Given the description of an element on the screen output the (x, y) to click on. 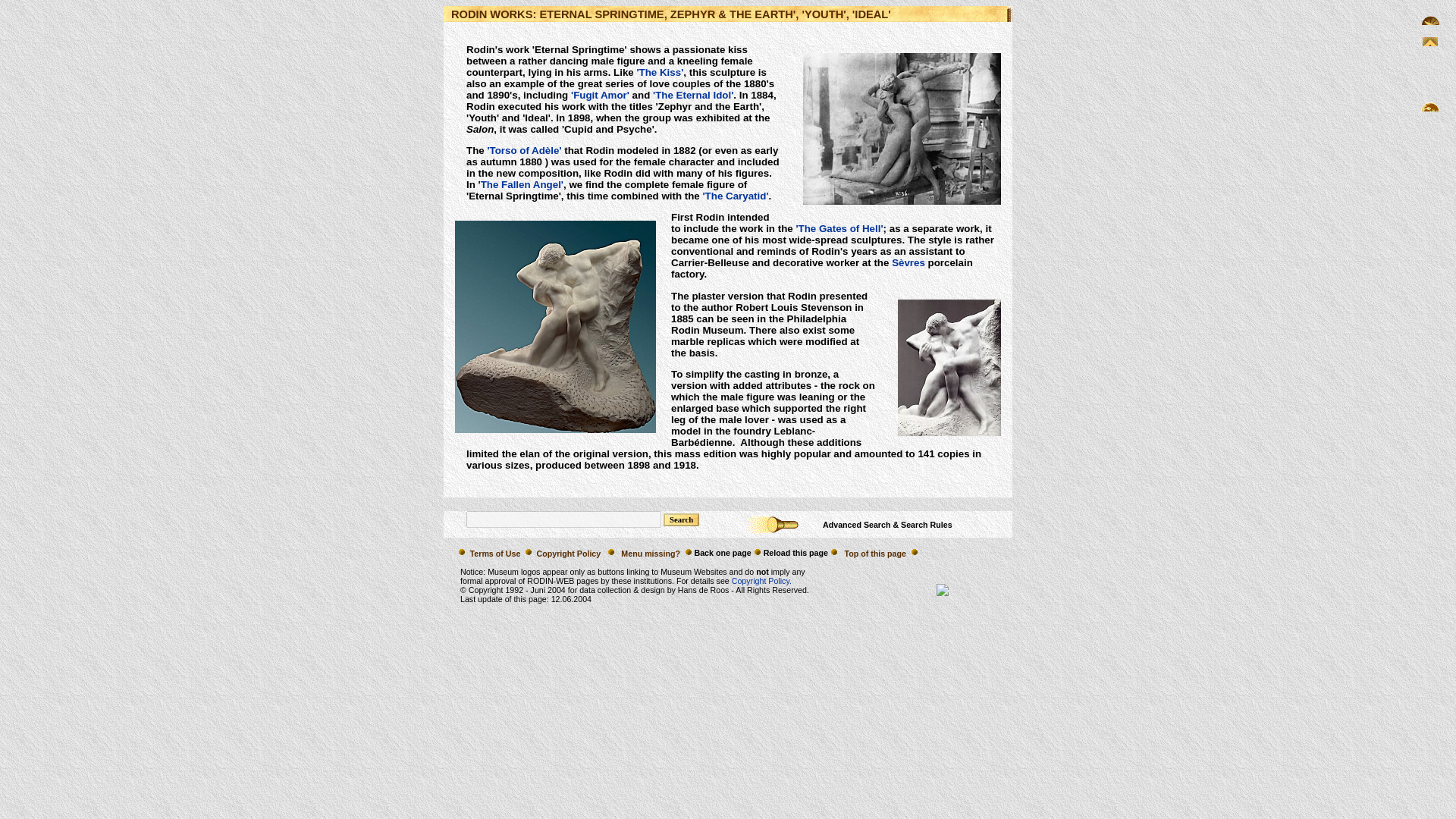
Terms of Use (493, 553)
Search (680, 519)
Copyright Policy. (762, 580)
Reload this page (795, 552)
'The Eternal Idol' (692, 94)
'The Gates of Hell' (838, 228)
Search (680, 519)
'The Kiss' (658, 71)
Copyright Policy (568, 553)
Menu missing? (651, 553)
